Given the description of an element on the screen output the (x, y) to click on. 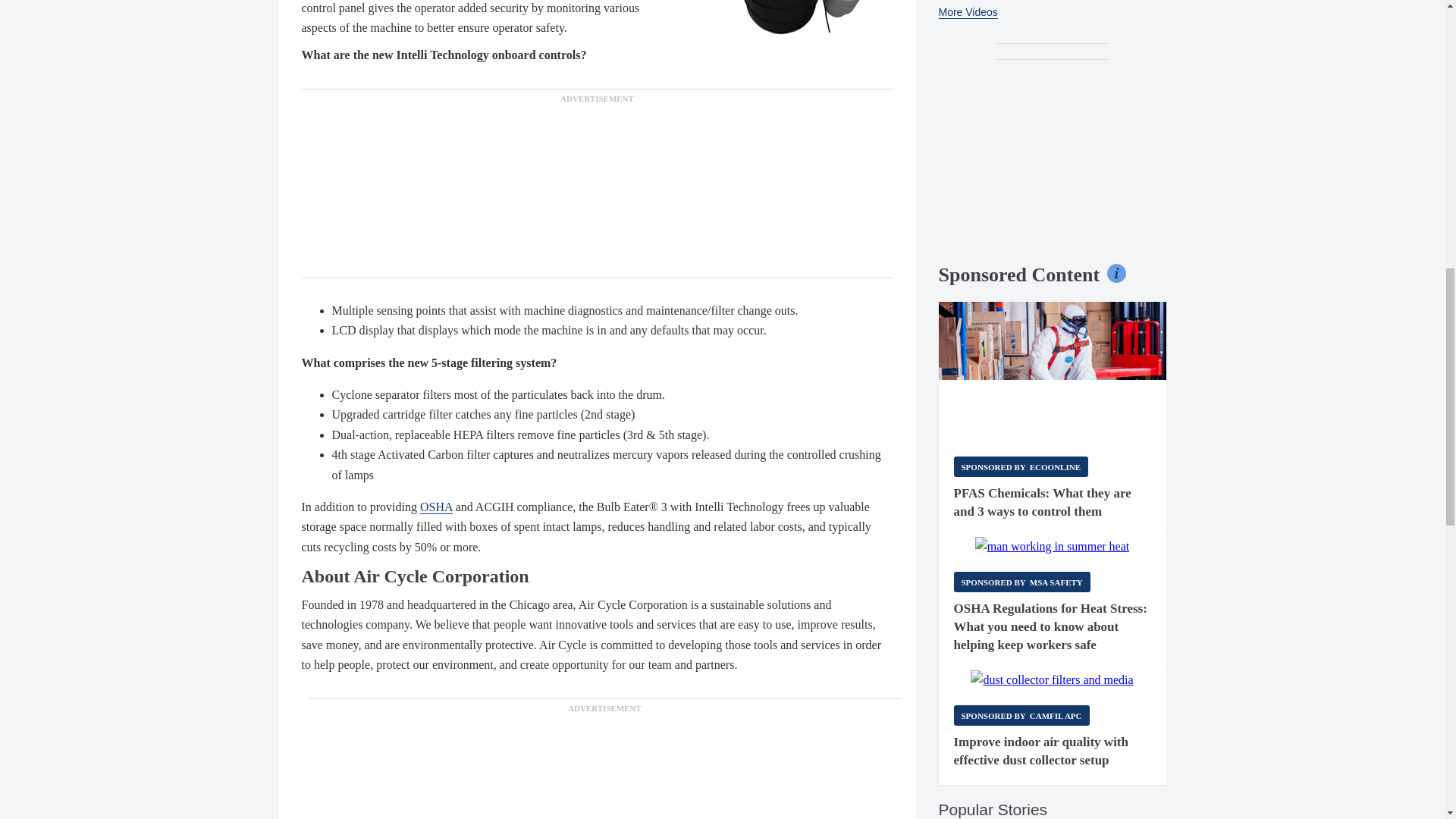
Sponsored by EcoOnline (1021, 466)
Sponsored by Camfil APC (1021, 715)
Sponsored by MSA Safety (1021, 581)
man working in summer heat (1052, 546)
chemical safety (1052, 371)
dust collector filters and media (1051, 680)
